Given the description of an element on the screen output the (x, y) to click on. 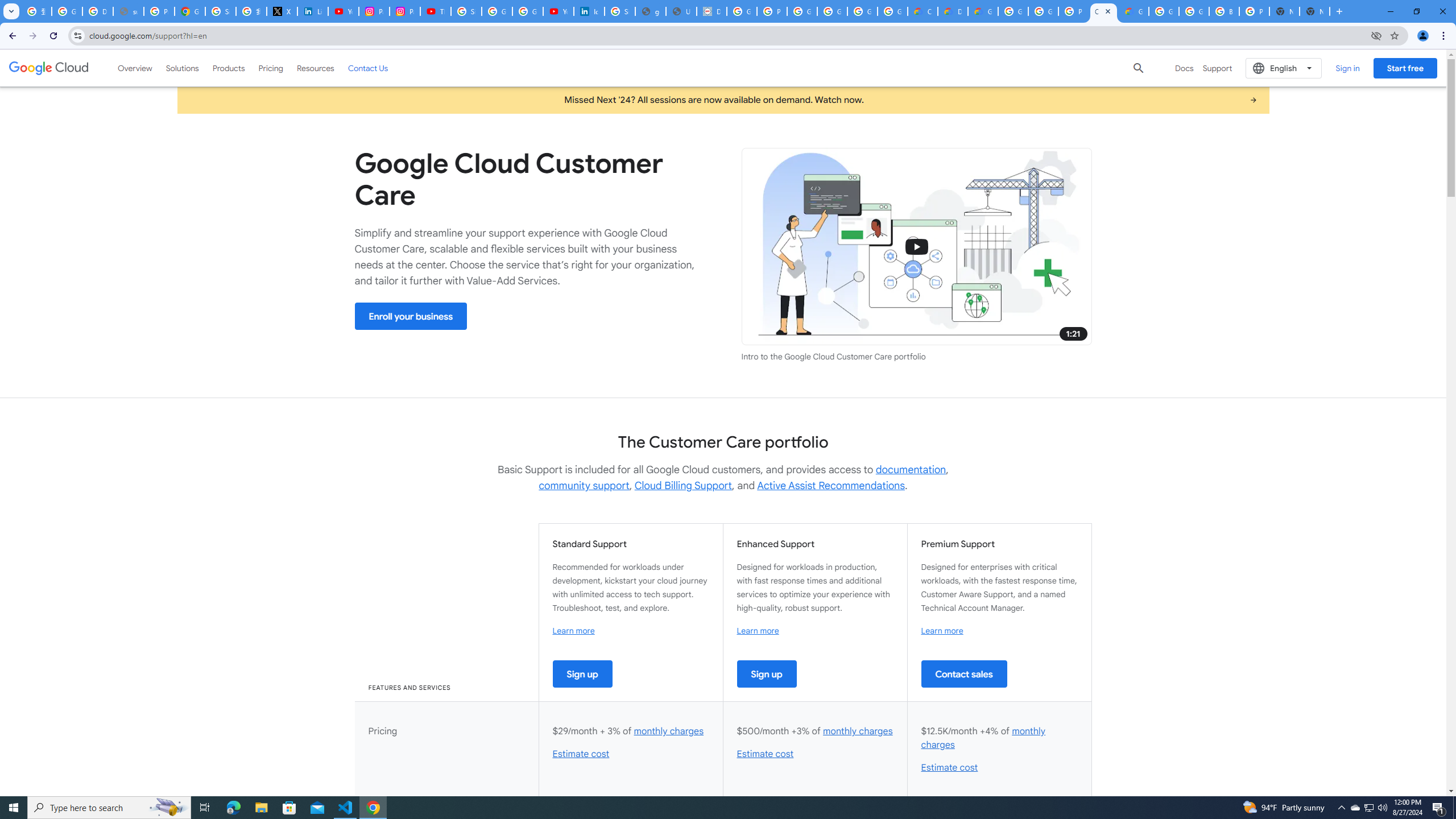
Support (1216, 67)
Google Cloud Platform (1193, 11)
Solutions (181, 67)
User Details (681, 11)
